Given the description of an element on the screen output the (x, y) to click on. 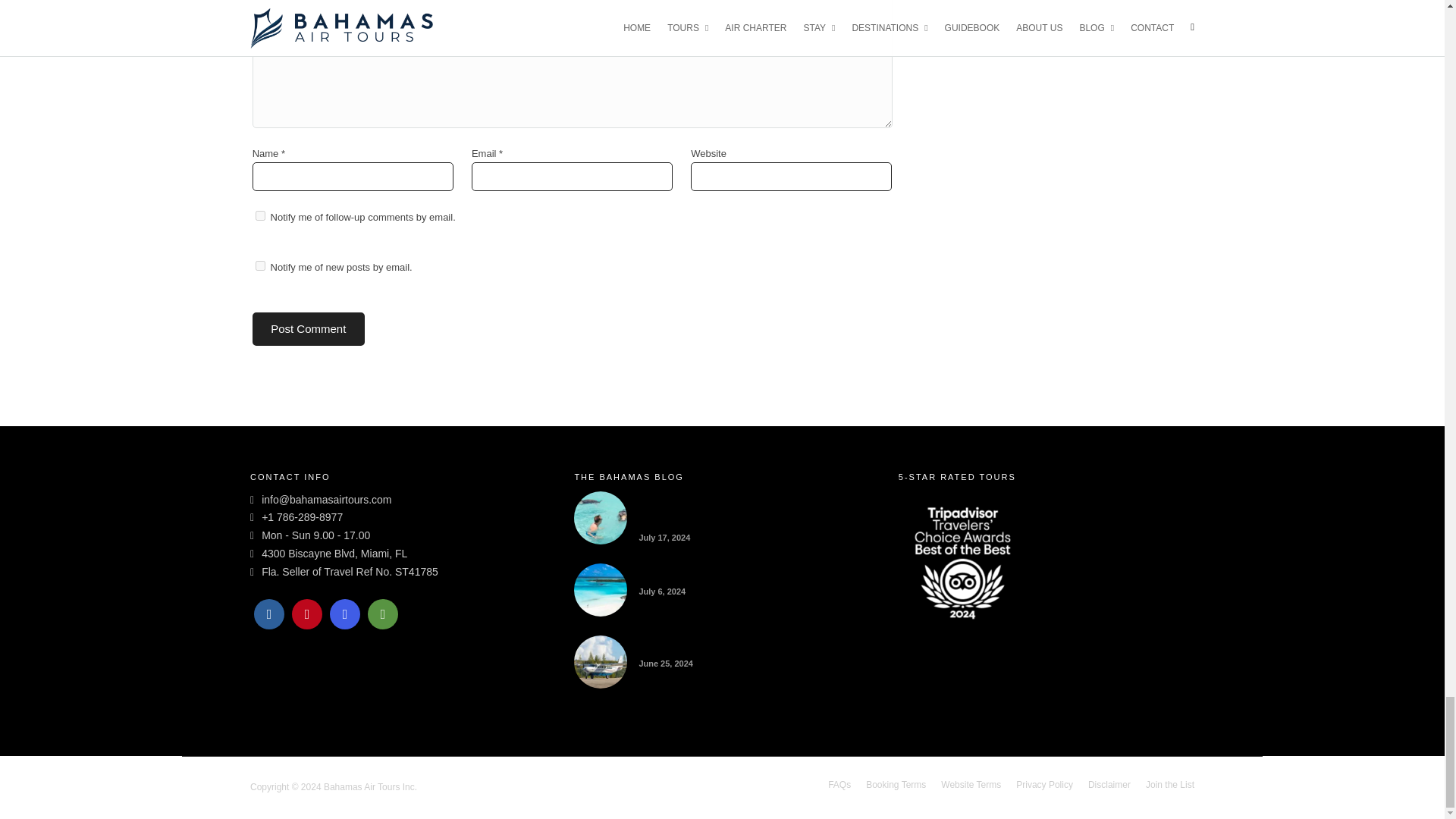
subscribe (260, 266)
subscribe (260, 215)
Post Comment (308, 329)
